Given the description of an element on the screen output the (x, y) to click on. 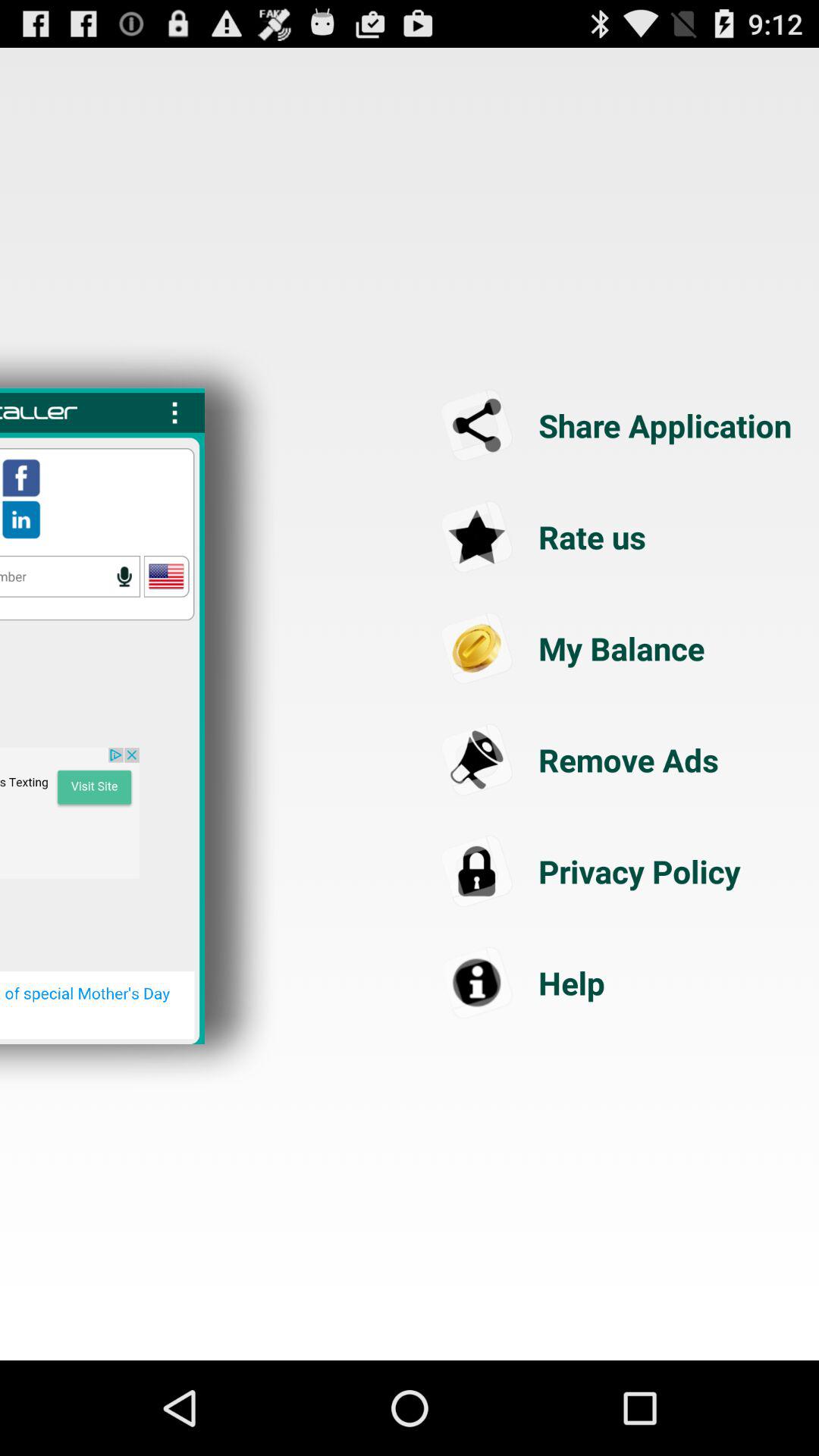
turn off icon at the bottom left corner (97, 1005)
